Given the description of an element on the screen output the (x, y) to click on. 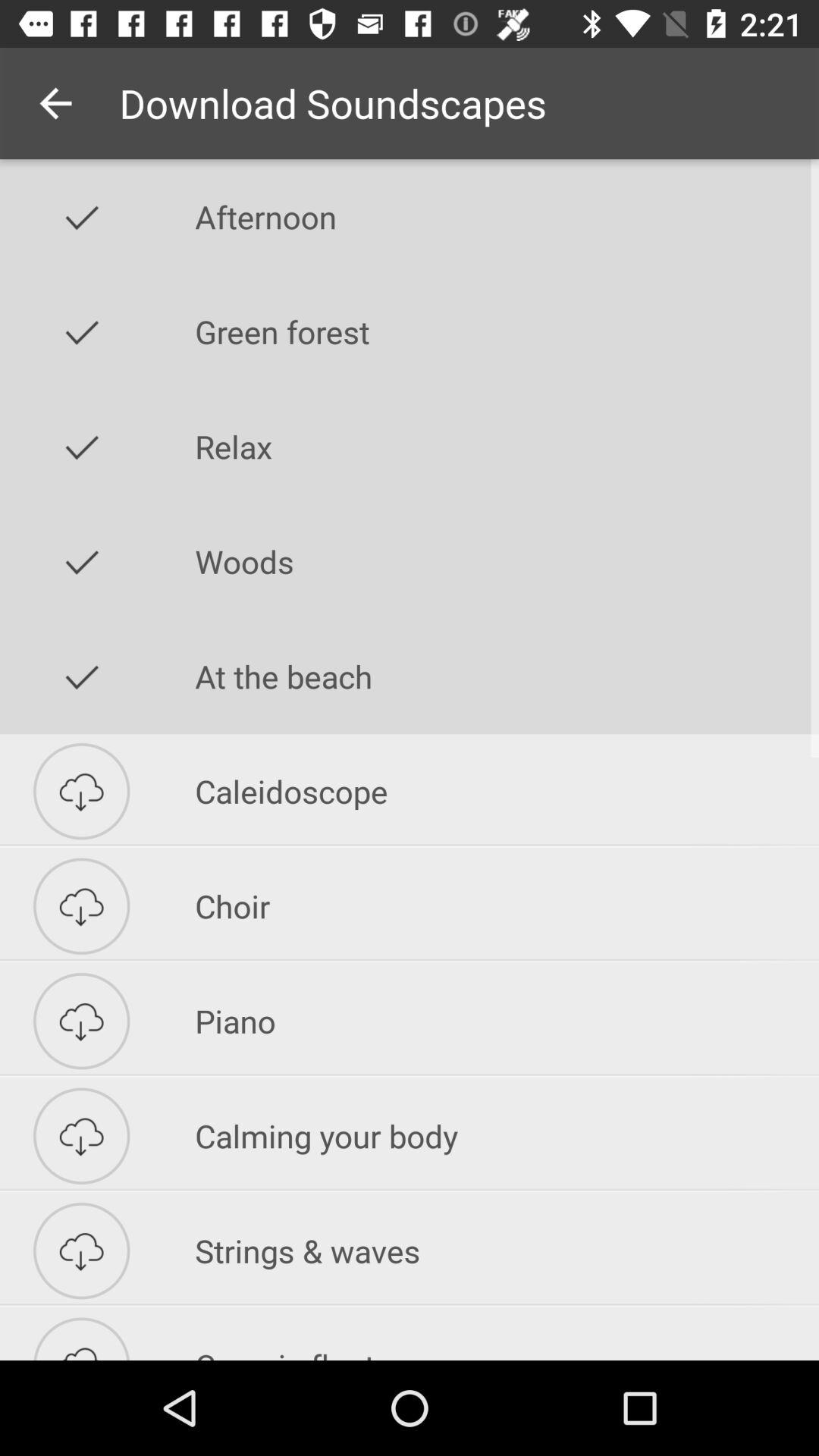
press the item below the choir (507, 1020)
